Given the description of an element on the screen output the (x, y) to click on. 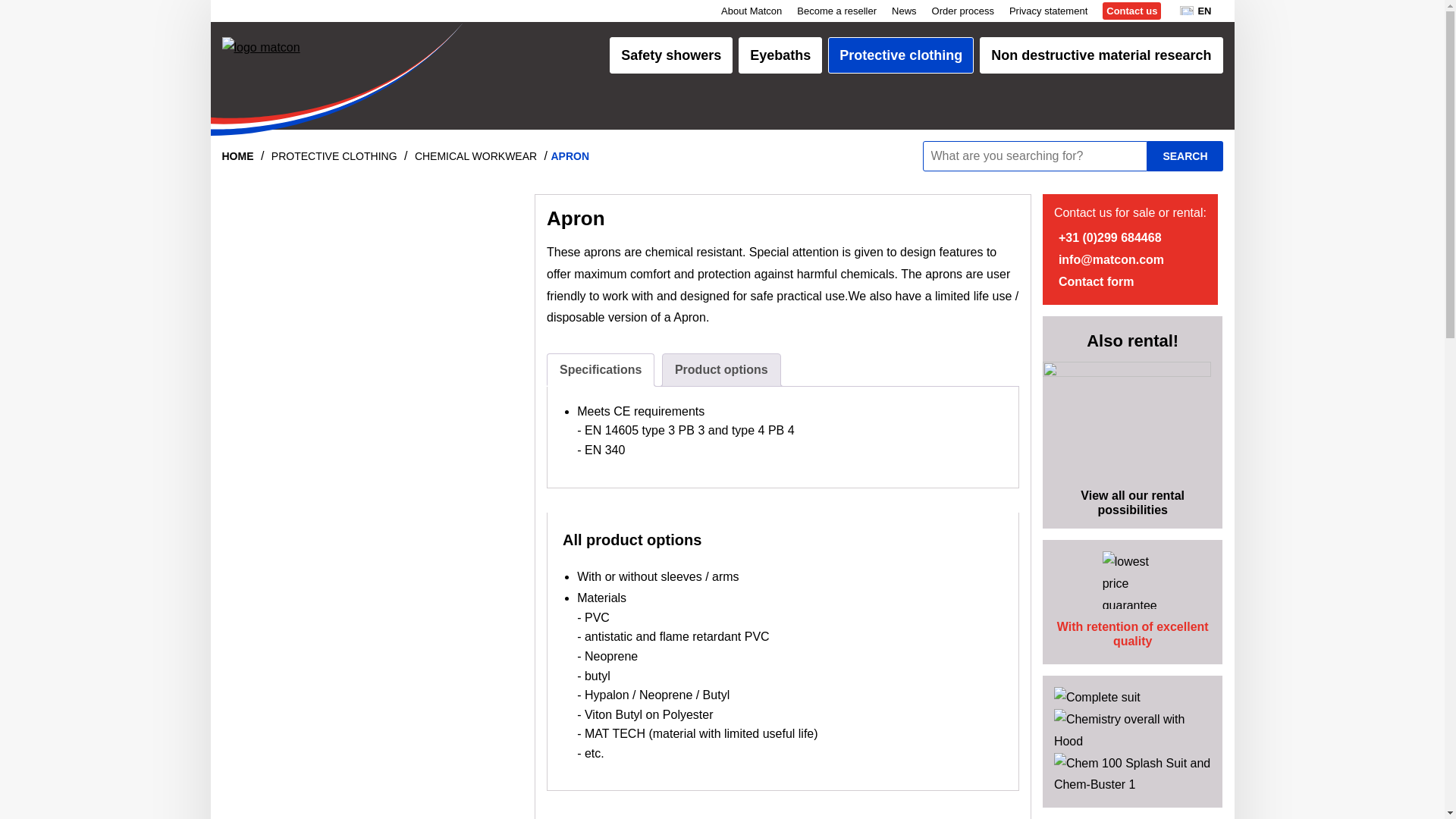
Search (1185, 155)
News (904, 10)
About Matcon (750, 10)
Order process (962, 10)
Search (1185, 155)
PROTECTIVE CLOTHING (333, 155)
Specifications (600, 369)
Chemistry overall with Hood (1132, 740)
Complete suit (1097, 697)
CHEMICAL WORKWEAR (475, 155)
